Given the description of an element on the screen output the (x, y) to click on. 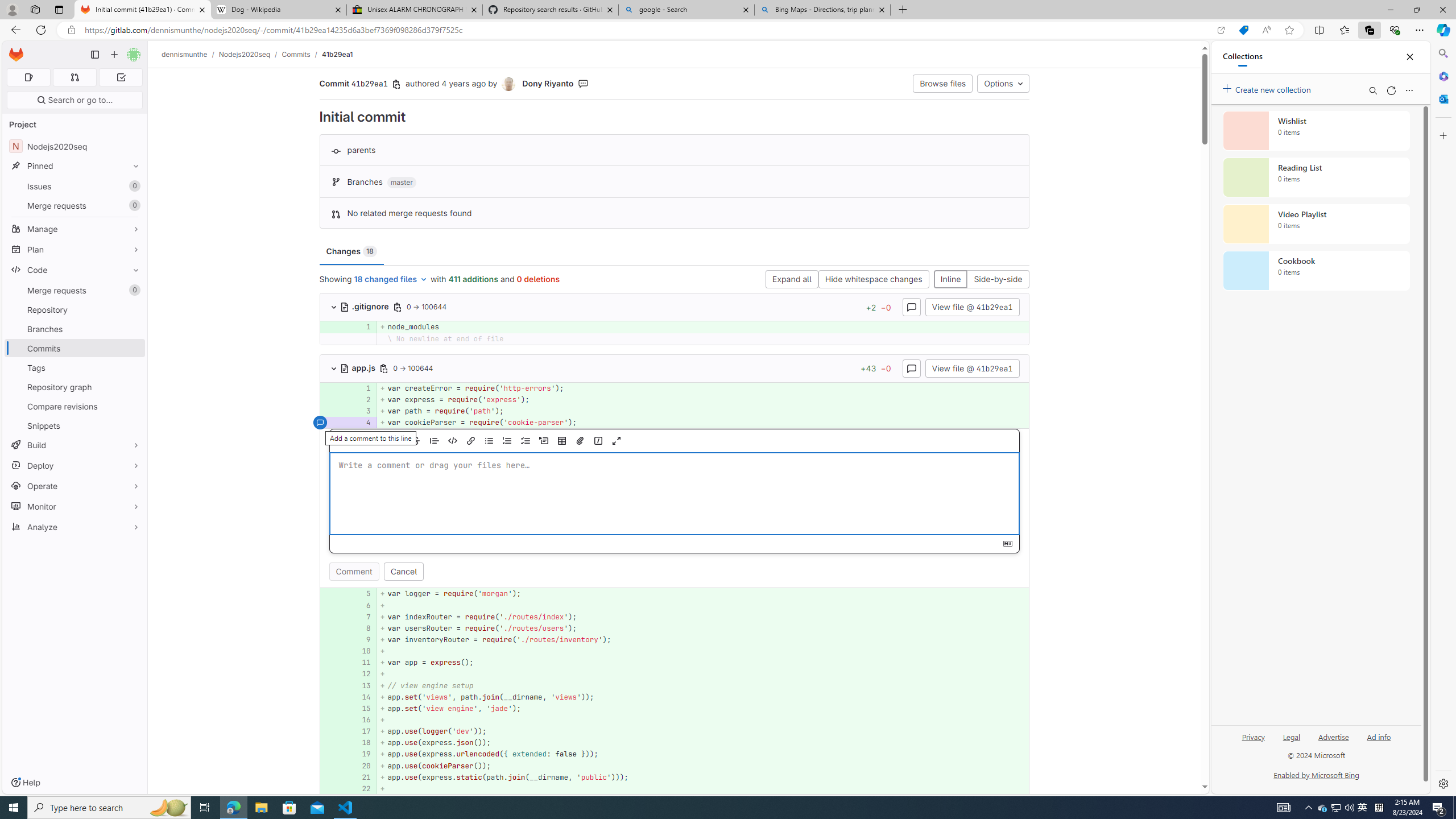
Preview (352, 440)
Add a comment to this line (320, 788)
16 (360, 720)
Toggle comments for this file (911, 367)
Issues 0 (74, 185)
Add a link (Ctrl+K) (470, 440)
AutomationID: 4a68969ef8e858229267b842dedf42ab5dde4d50_0_5 (674, 594)
Insert code (452, 440)
Unpin Merge requests (132, 290)
+ app.use(cookieParser());  (703, 765)
